Given the description of an element on the screen output the (x, y) to click on. 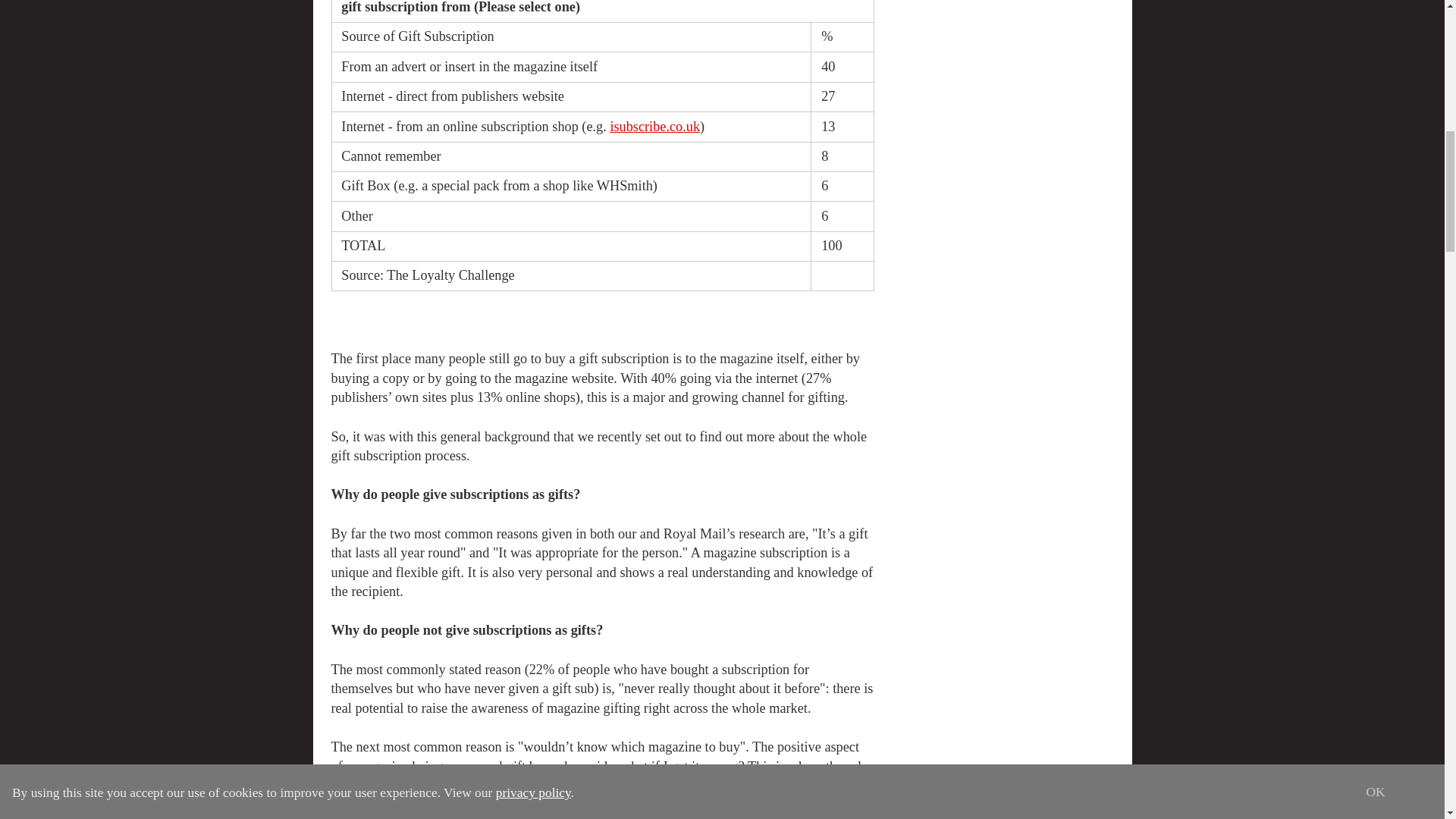
isubscribe.co.uk (655, 126)
